Given the description of an element on the screen output the (x, y) to click on. 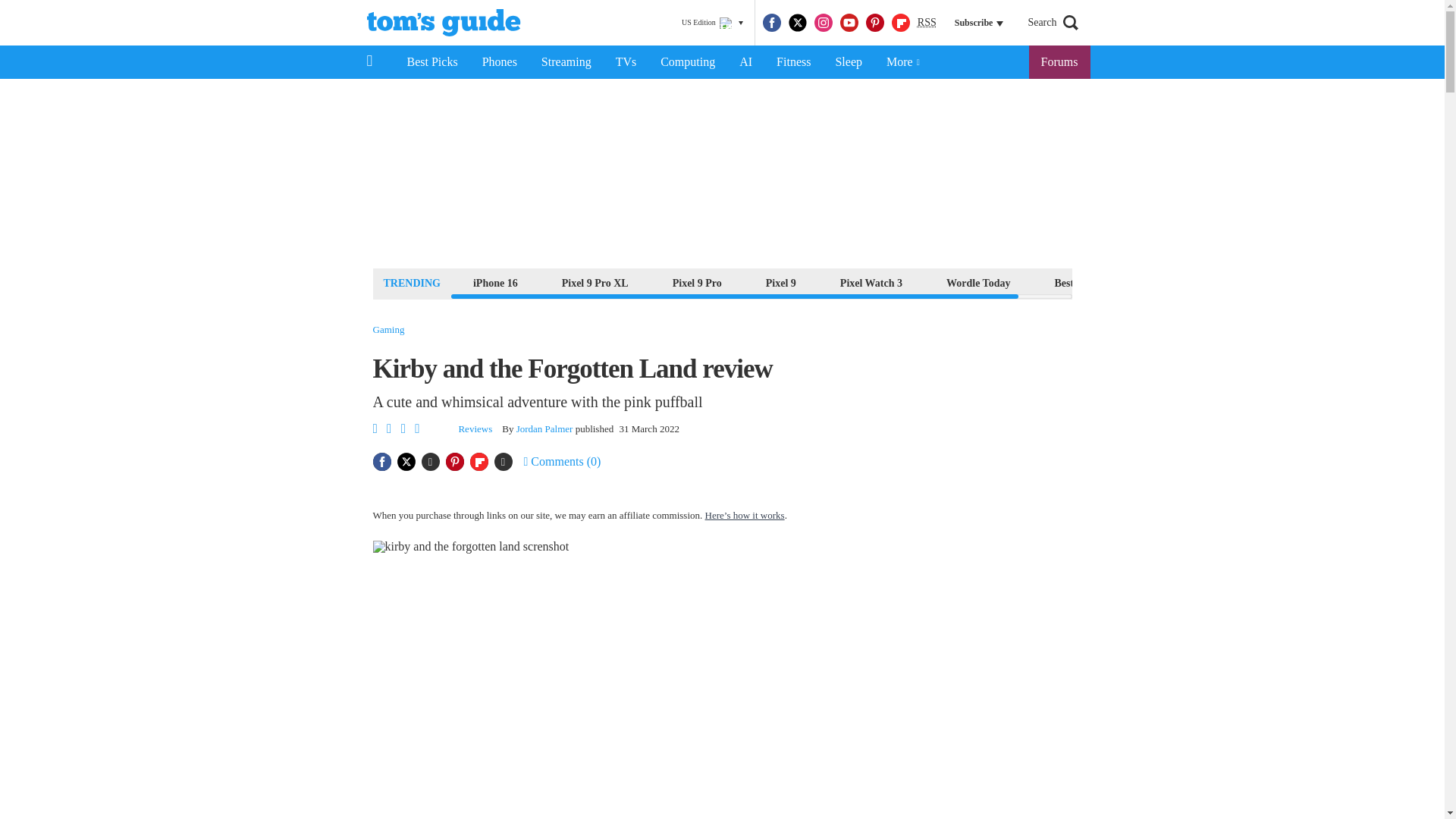
Best Picks (431, 61)
US Edition (712, 22)
Sleep (848, 61)
Computing (686, 61)
Really Simple Syndication (926, 21)
Fitness (793, 61)
TVs (626, 61)
AI (745, 61)
Streaming (566, 61)
RSS (926, 22)
